Given the description of an element on the screen output the (x, y) to click on. 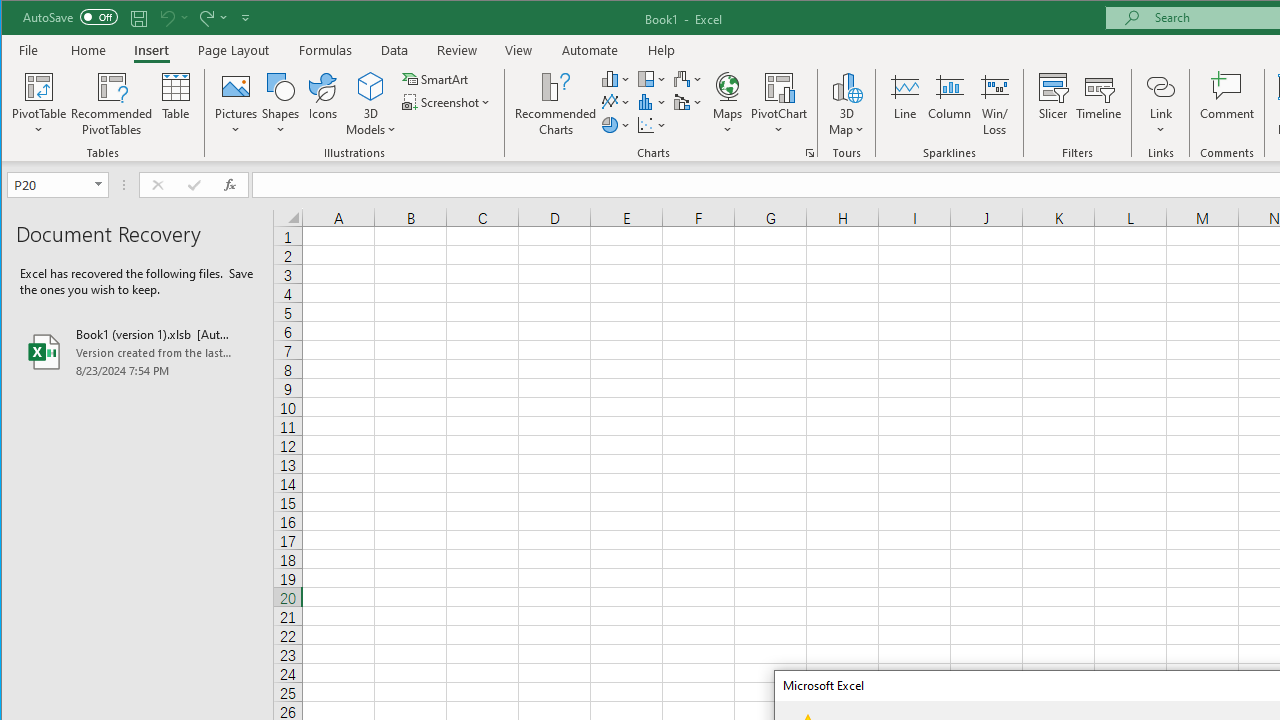
Table (175, 104)
Insert Hierarchy Chart (652, 78)
Shapes (280, 104)
Insert Statistic Chart (652, 101)
Win/Loss (995, 104)
3D Models (371, 104)
Recommended PivotTables (111, 104)
3D Models (371, 86)
Insert Combo Chart (688, 101)
PivotTable (39, 104)
Timeline (1098, 104)
